Given the description of an element on the screen output the (x, y) to click on. 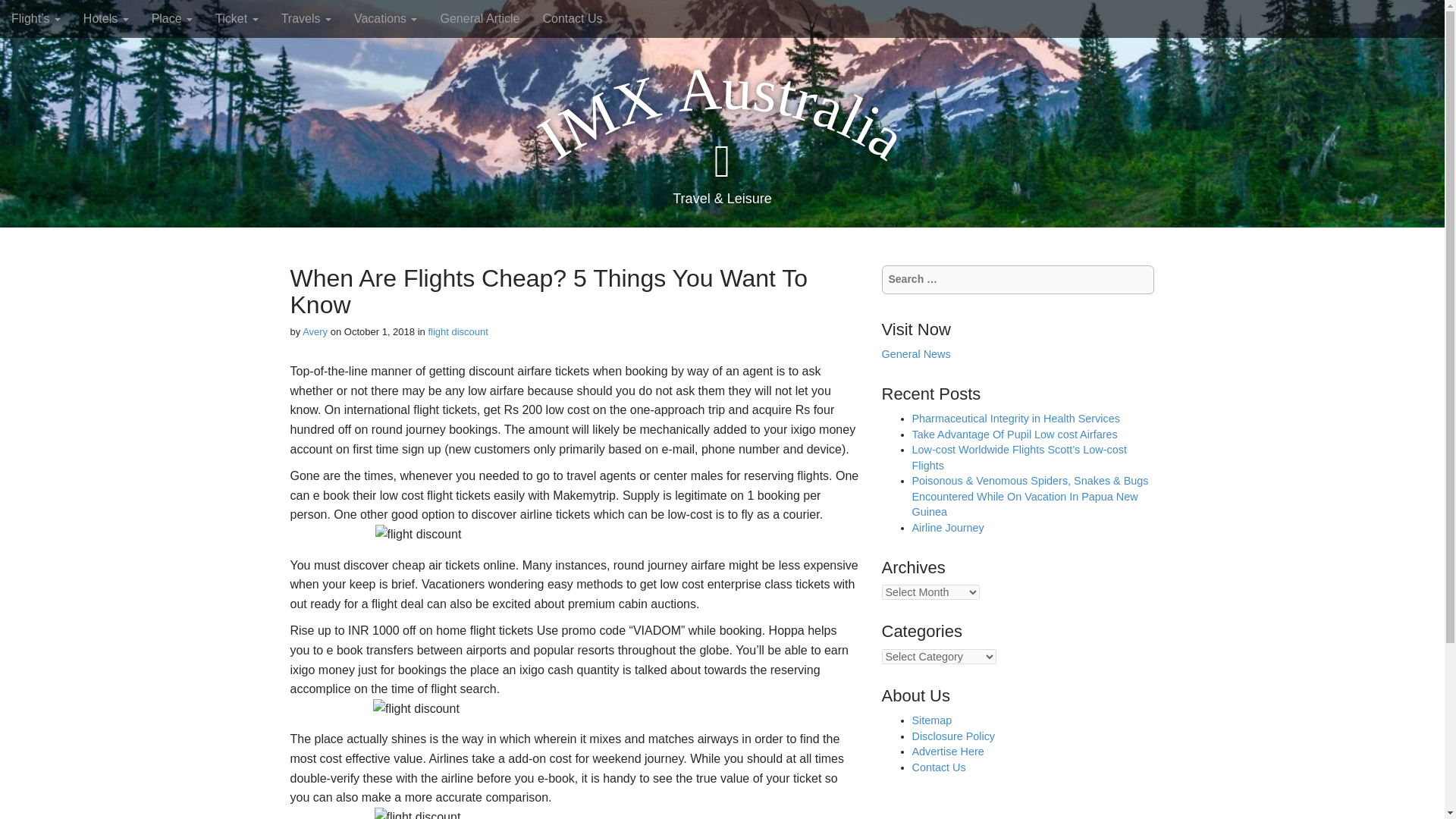
Travels (305, 18)
Ticket (236, 18)
Vacations (385, 18)
Avery (314, 331)
Posts by Avery (314, 331)
flight discount (457, 331)
General Article (479, 18)
October 1, 2018 (378, 331)
Hotels (105, 18)
Place (171, 18)
Contact Us (571, 18)
